Given the description of an element on the screen output the (x, y) to click on. 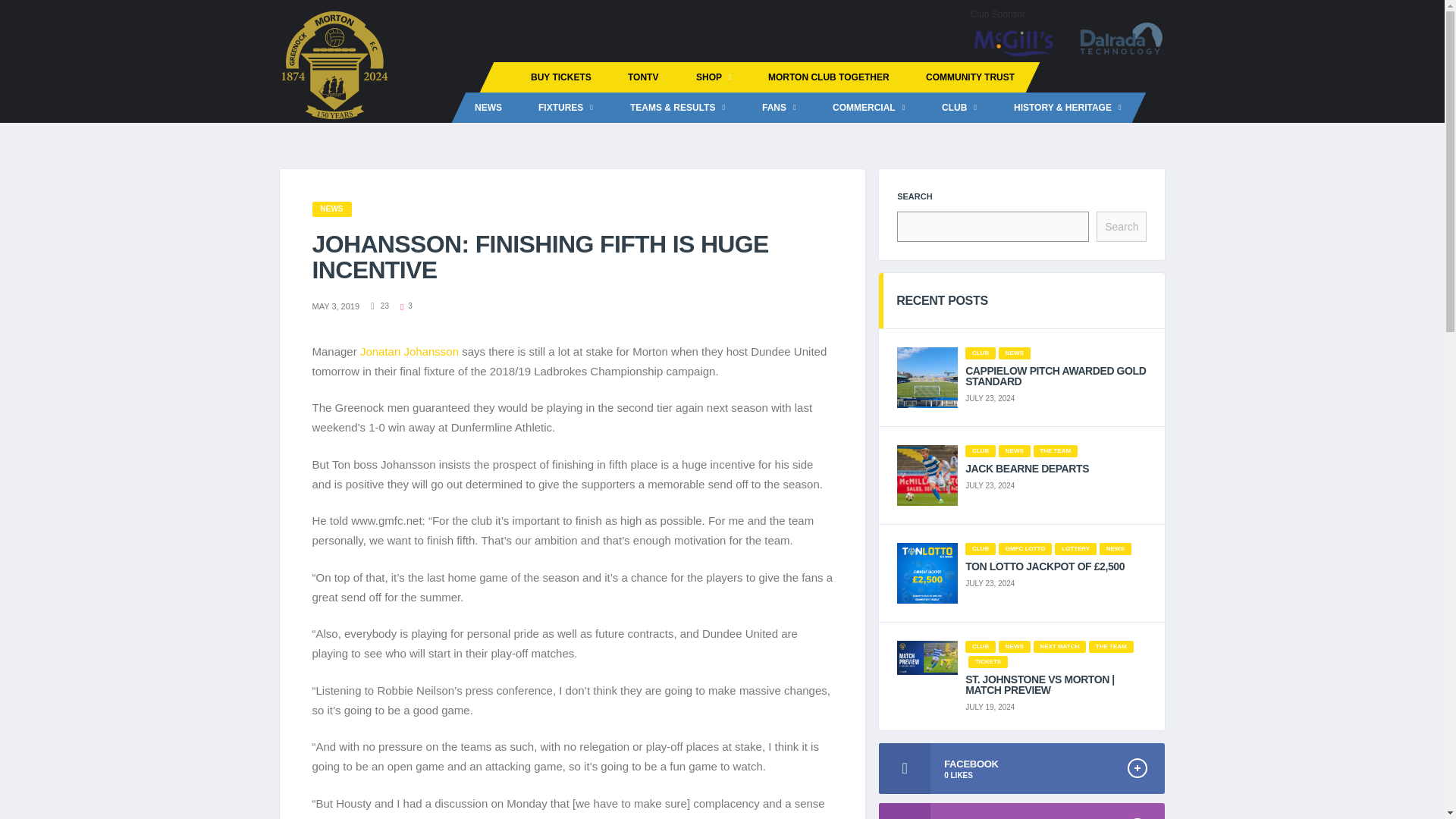
TONTV (643, 77)
FANS (778, 107)
FIXTURES (565, 107)
COMMUNITY TRUST (969, 77)
Unlike (406, 306)
Cappielow Pitch Awarded Gold Standard (1056, 375)
MORTON CLUB TOGETHER (828, 77)
BUY TICKETS (561, 77)
Jack Bearne Departs (1056, 468)
SHOP (713, 77)
NEWS (488, 107)
